Given the description of an element on the screen output the (x, y) to click on. 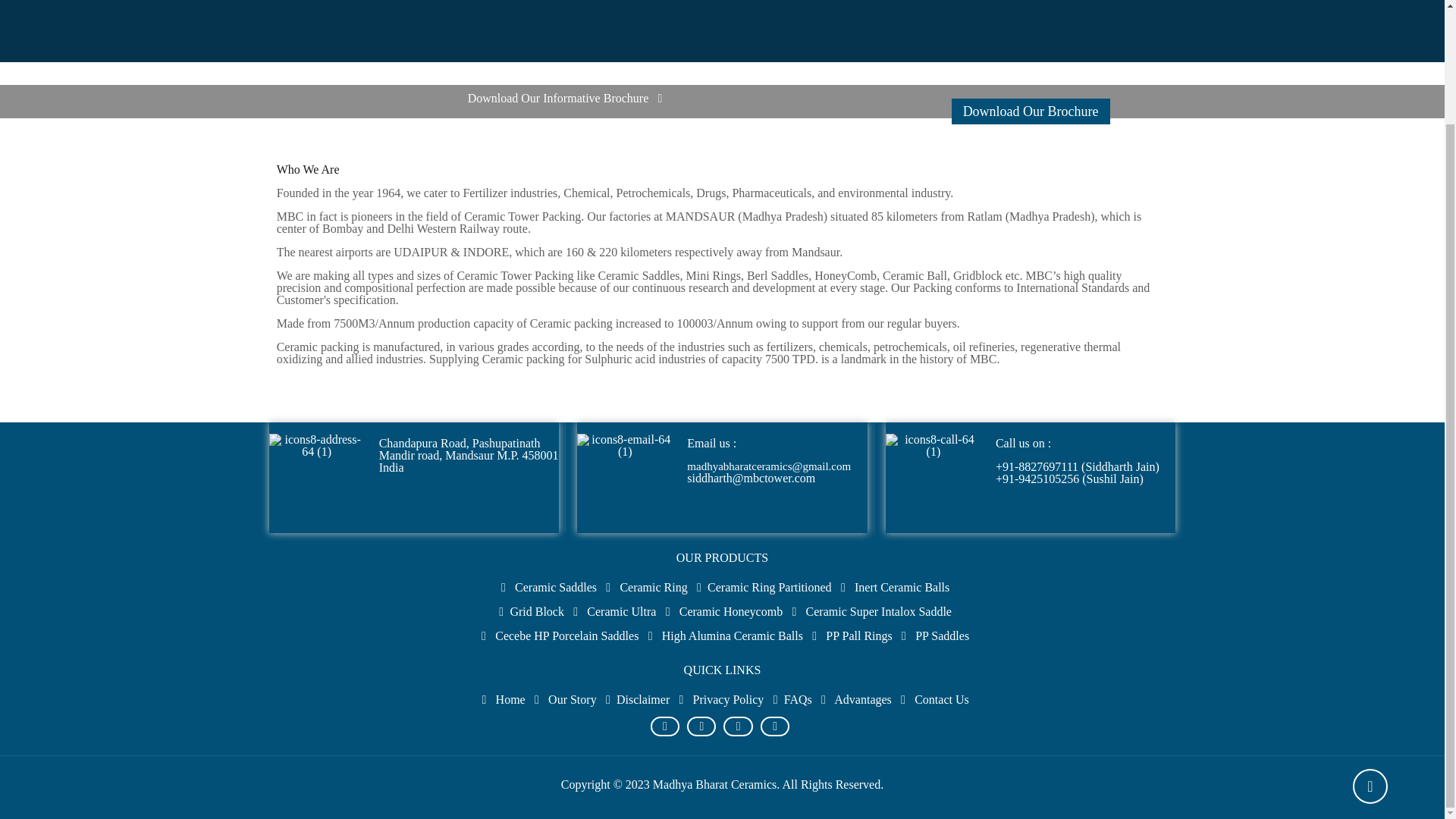
Instagram (701, 725)
Ceramic Ring (653, 586)
Ceramic Saddles (555, 586)
linkedin (737, 725)
twitter (775, 725)
Download Our Brochure (1030, 111)
Facebook (664, 725)
Ceramic Ring Partitioned (769, 586)
Inert Ceramic Balls (901, 586)
